Given the description of an element on the screen output the (x, y) to click on. 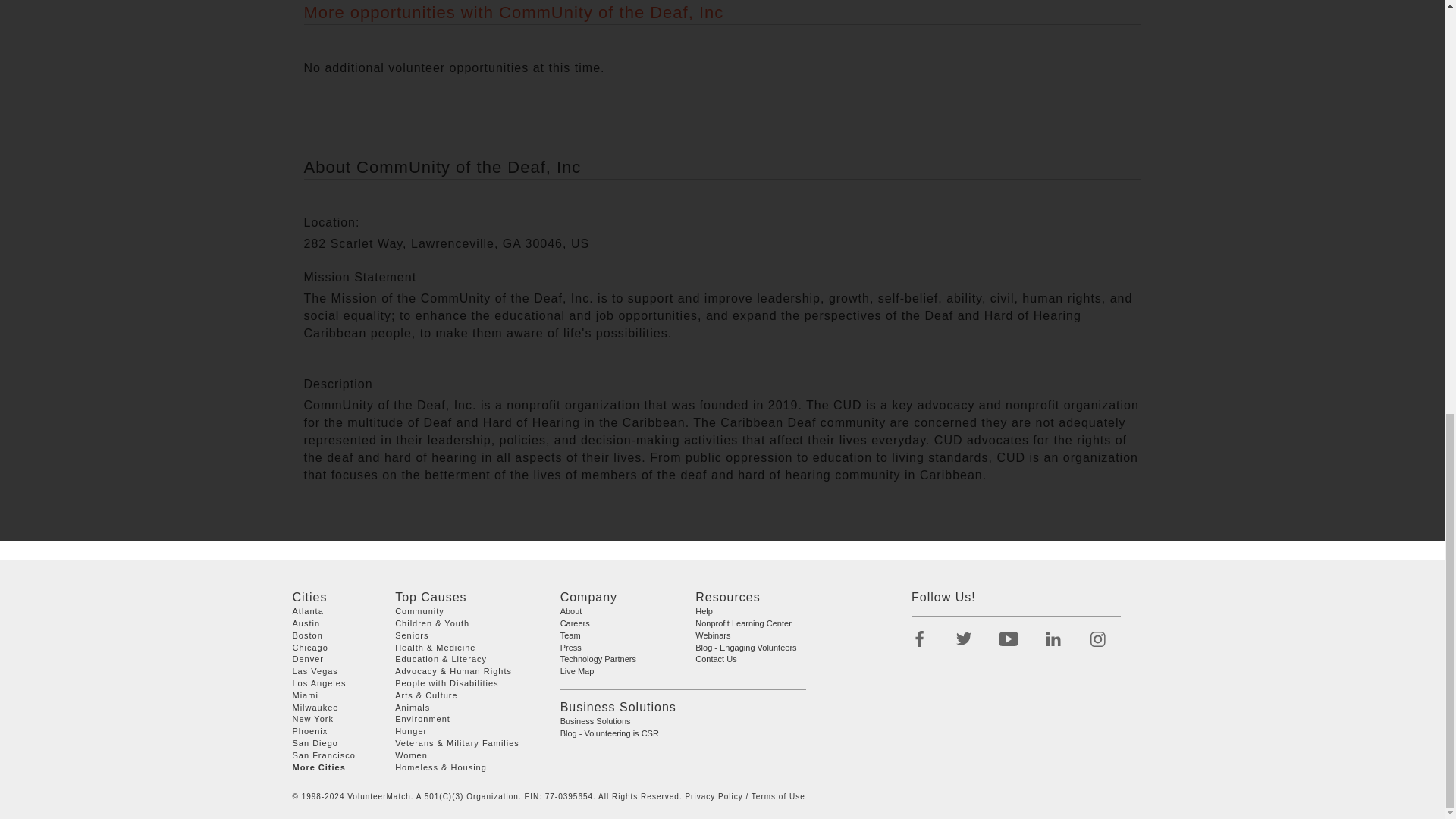
Austin (306, 623)
More opportunities with CommUnity of the Deaf, Inc (512, 12)
Denver (307, 658)
Atlanta (307, 610)
Chicago (310, 646)
Boston (307, 634)
Las Vegas (314, 670)
